Given the description of an element on the screen output the (x, y) to click on. 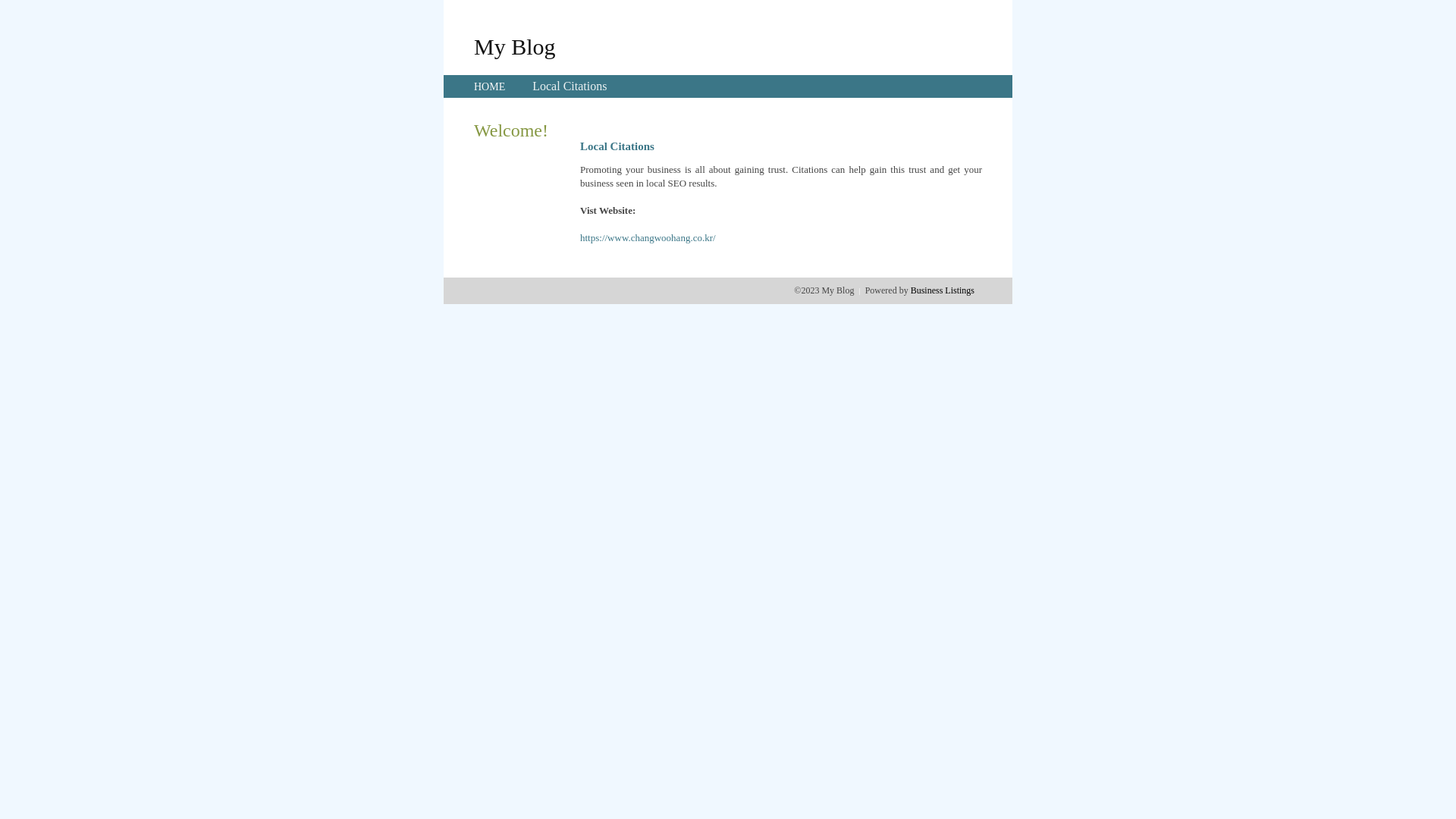
https://www.changwoohang.co.kr/ Element type: text (647, 237)
My Blog Element type: text (514, 46)
HOME Element type: text (489, 86)
Business Listings Element type: text (942, 290)
Local Citations Element type: text (569, 85)
